Given the description of an element on the screen output the (x, y) to click on. 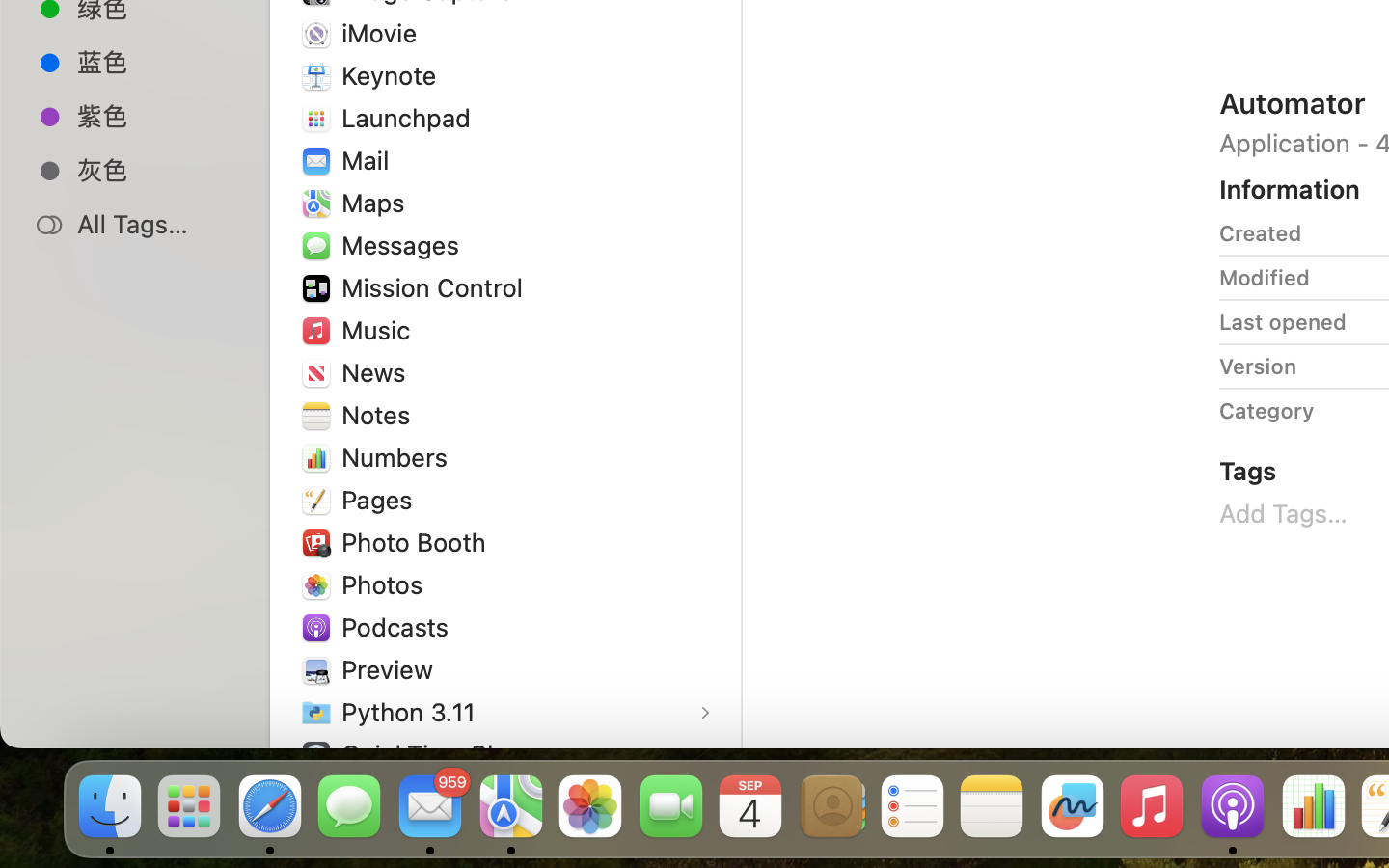
Information Element type: AXStaticText (1289, 188)
Podcasts Element type: AXTextField (399, 626)
Mail Element type: AXTextField (369, 159)
QuickTime Player Element type: AXTextField (446, 753)
Modified Element type: AXStaticText (1264, 277)
